Given the description of an element on the screen output the (x, y) to click on. 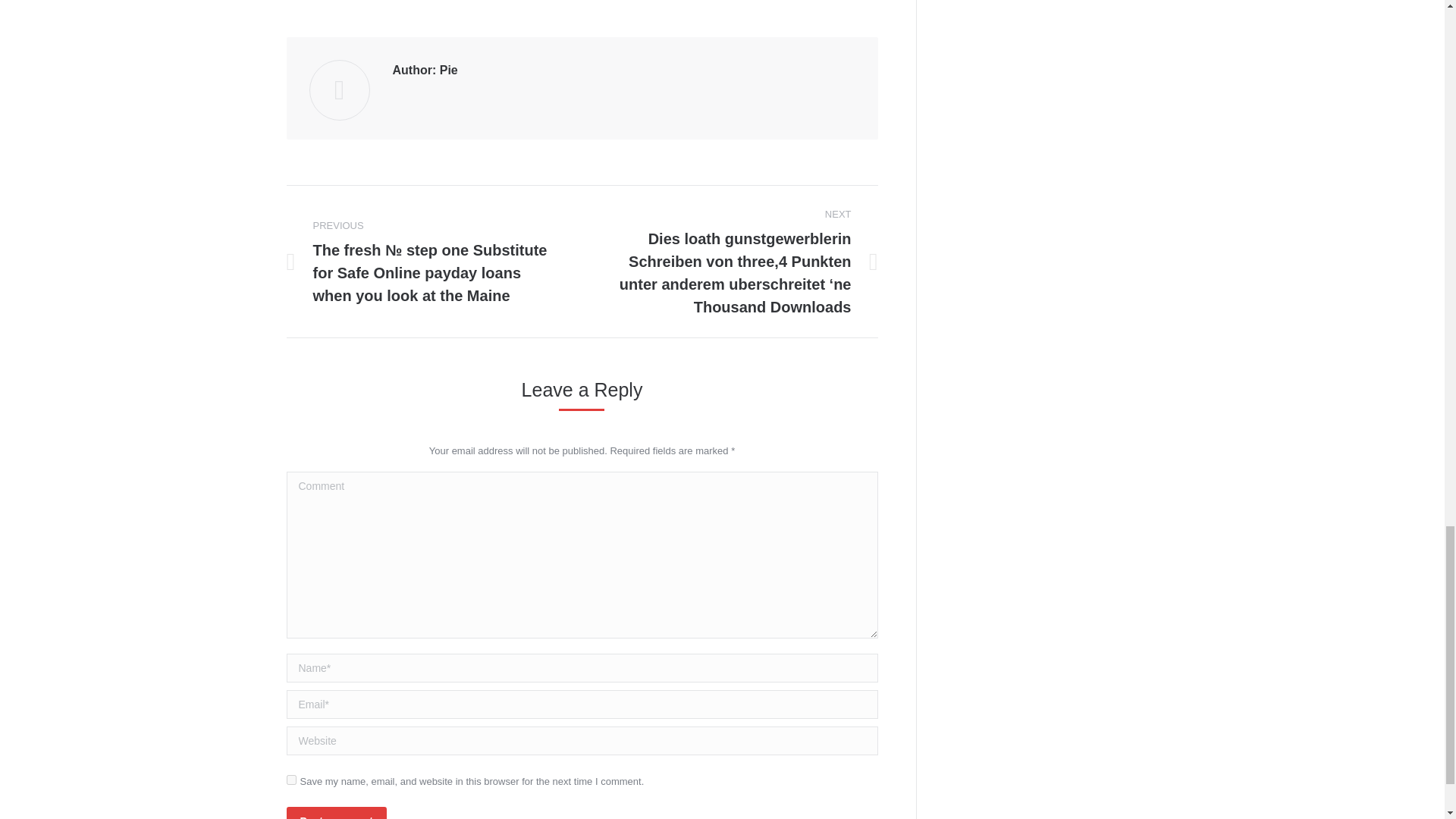
Post comment (336, 812)
yes (291, 779)
